Given the description of an element on the screen output the (x, y) to click on. 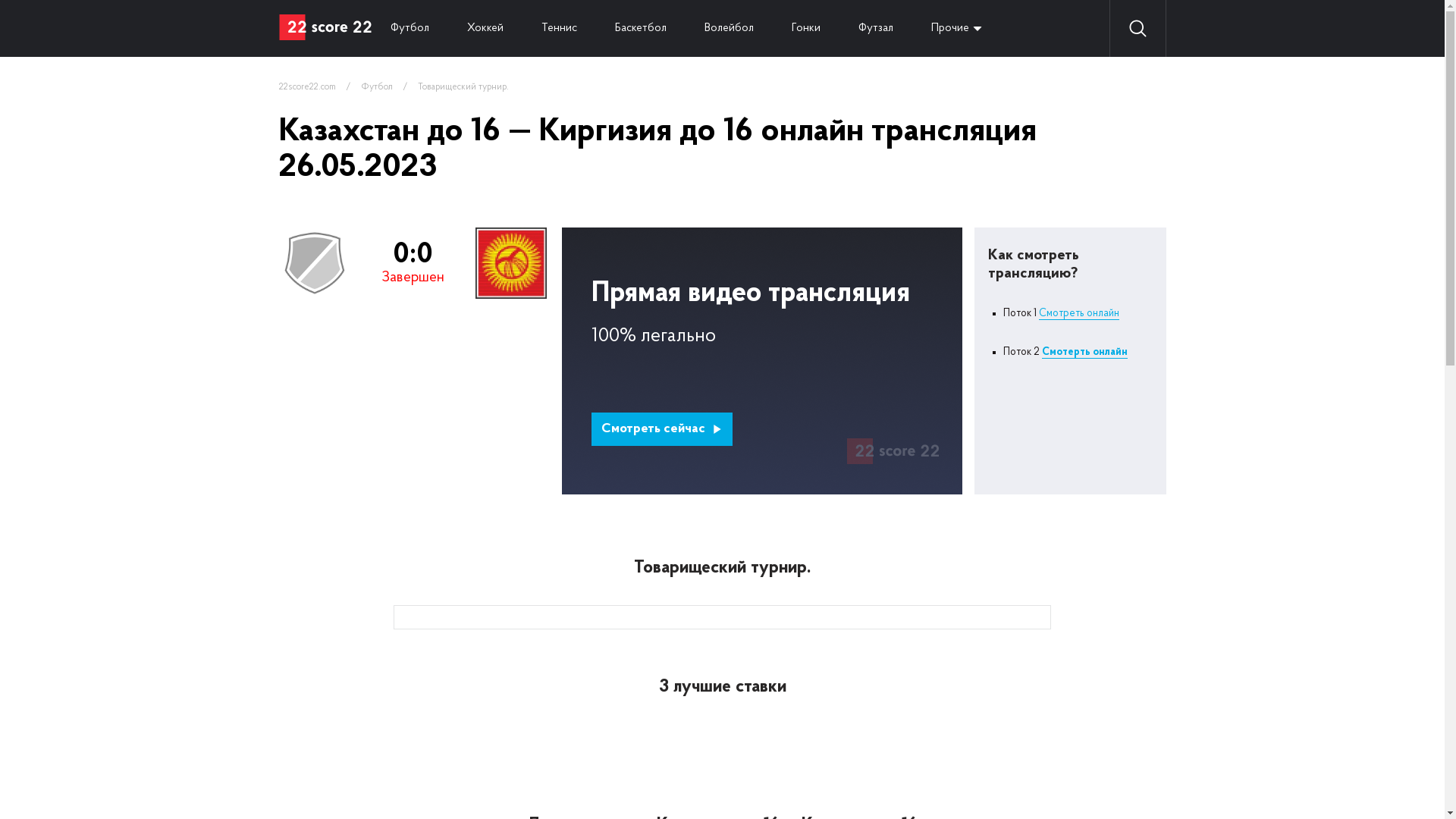
22score22.com Element type: text (307, 86)
